Given the description of an element on the screen output the (x, y) to click on. 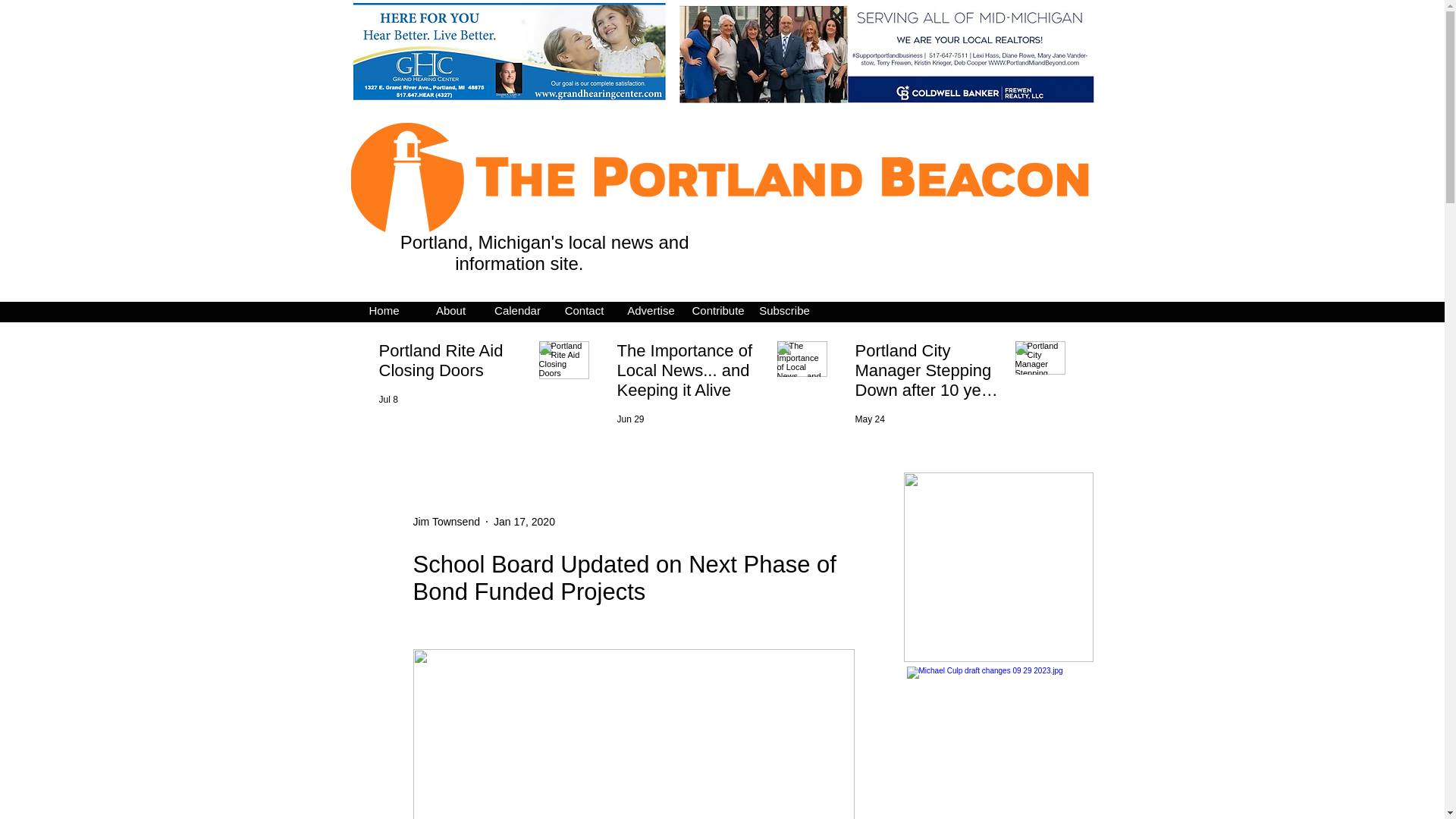
 Portland, Michigan's local news and information site.  (541, 252)
Jan 17, 2020 (523, 521)
Home (383, 311)
Portland Rite Aid Closing Doors (453, 363)
Jun 29 (631, 419)
About (449, 311)
Calendar (516, 311)
Contact (583, 311)
The Importance of Local News... and Keeping it Alive (692, 373)
Advertise (650, 311)
Jim Townsend (445, 521)
May 24 (870, 419)
Subscribe (783, 311)
Jul 8 (387, 398)
